Given the description of an element on the screen output the (x, y) to click on. 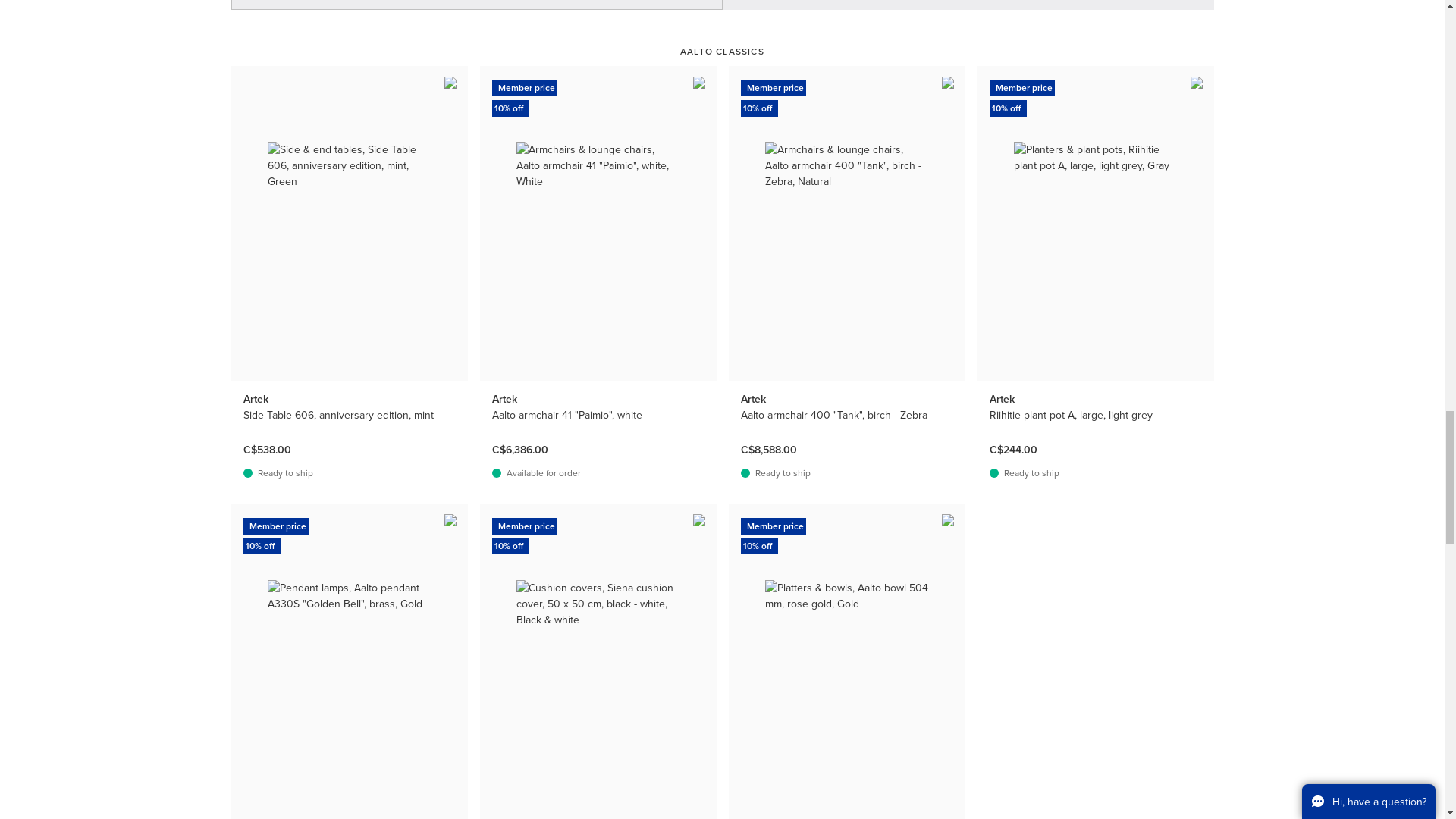
Add to wishlist (700, 82)
Add to wishlist (949, 82)
Add to wishlist (451, 520)
Add to wishlist (1198, 82)
Add to wishlist (451, 82)
